Given the description of an element on the screen output the (x, y) to click on. 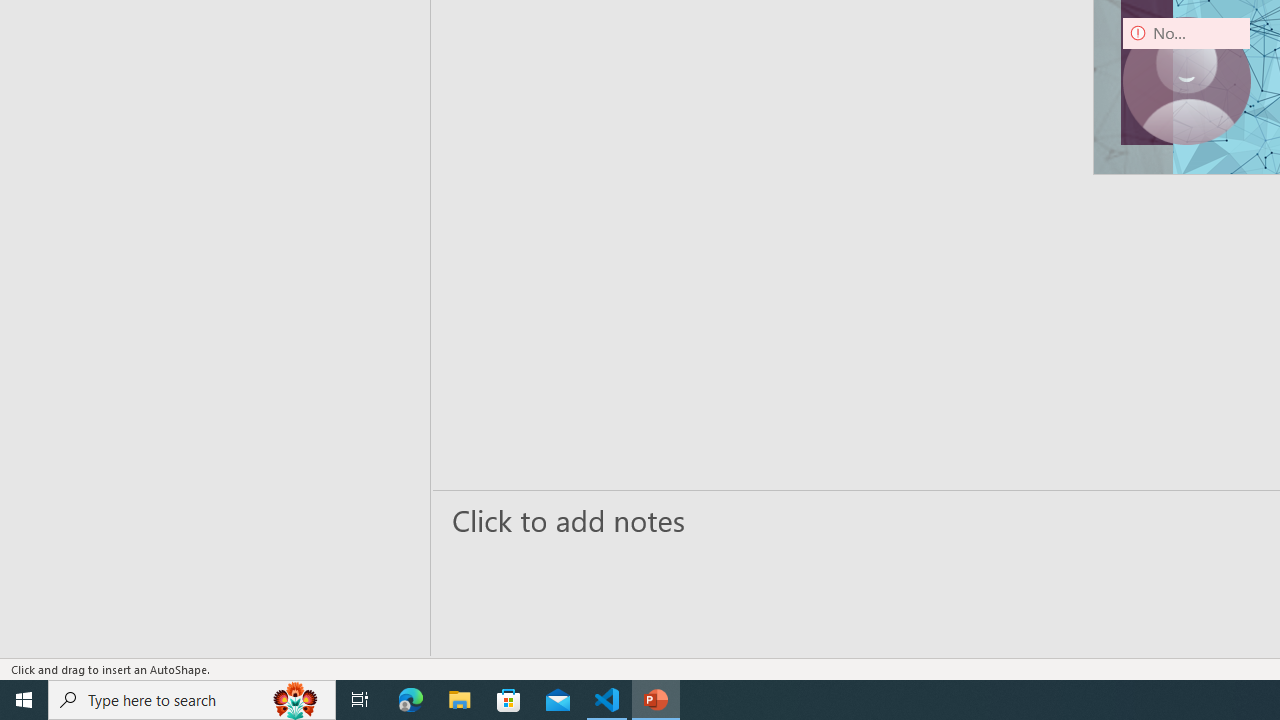
Camera 9, No camera detected. (1186, 80)
